Given the description of an element on the screen output the (x, y) to click on. 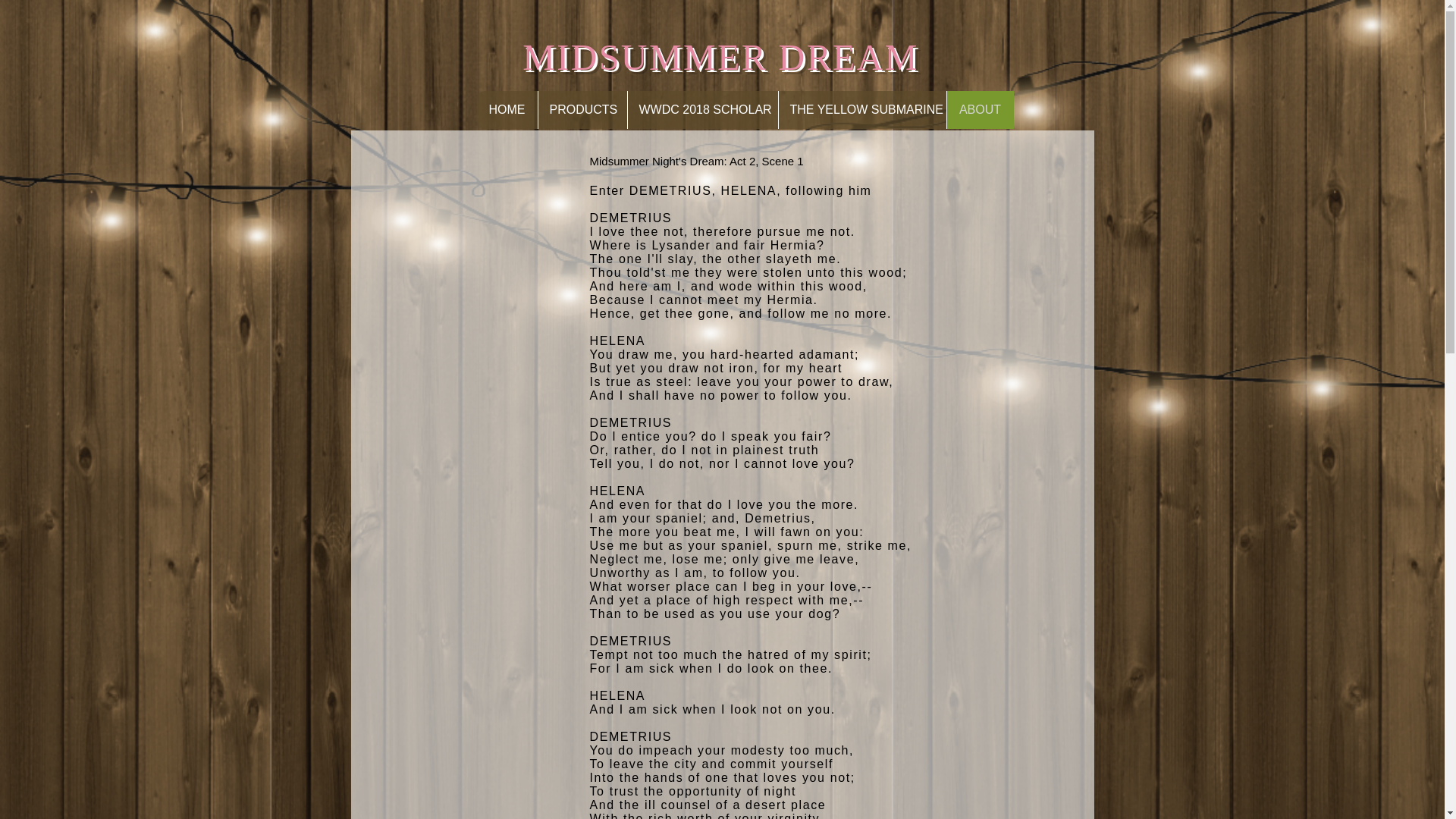
THE YELLOW SUBMARINE (861, 109)
ABOUT (979, 109)
HOME (506, 109)
WWDC 2018 SCHOLAR (701, 109)
PRODUCTS (581, 109)
